Given the description of an element on the screen output the (x, y) to click on. 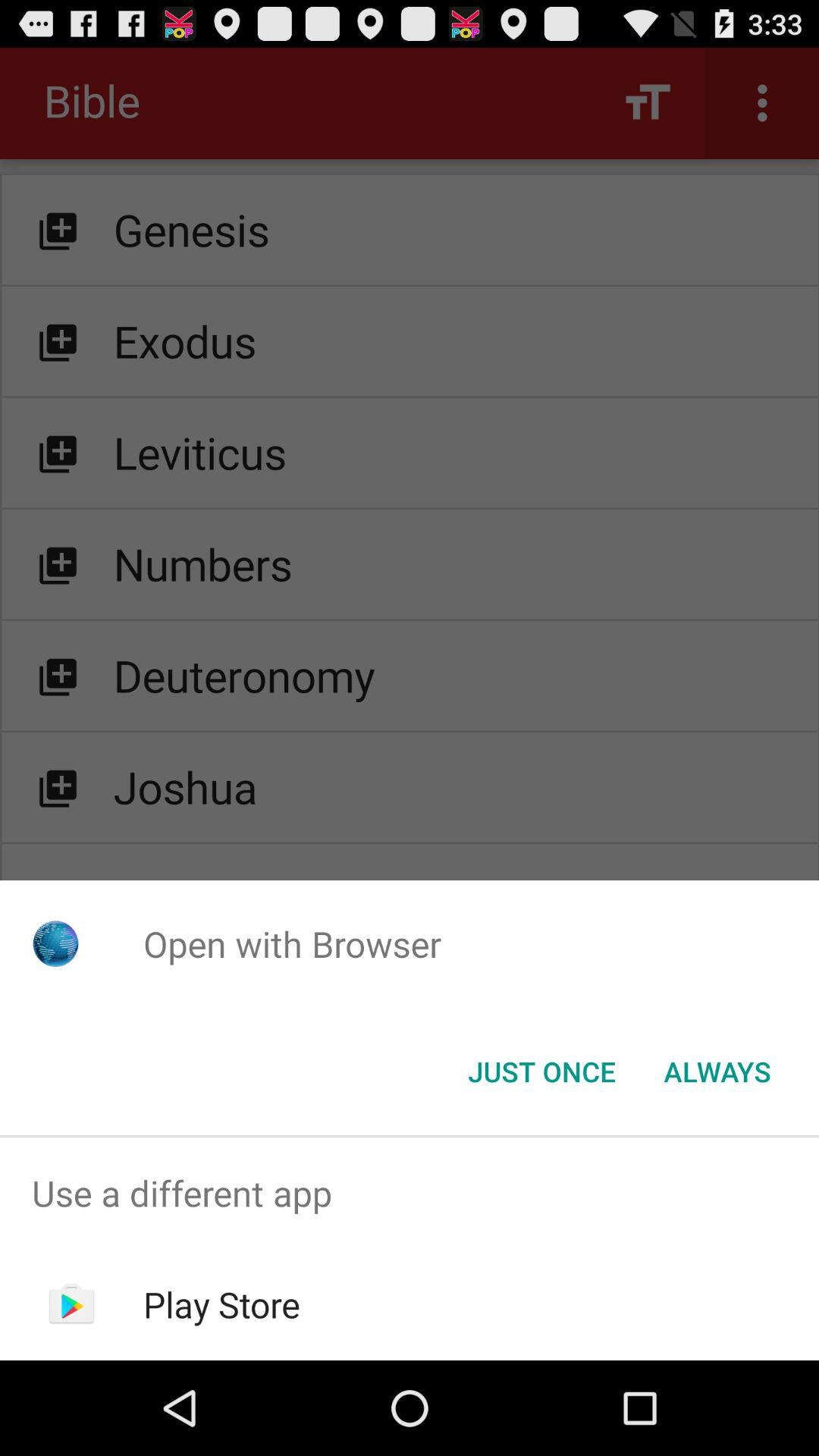
open the icon above the play store app (409, 1192)
